Given the description of an element on the screen output the (x, y) to click on. 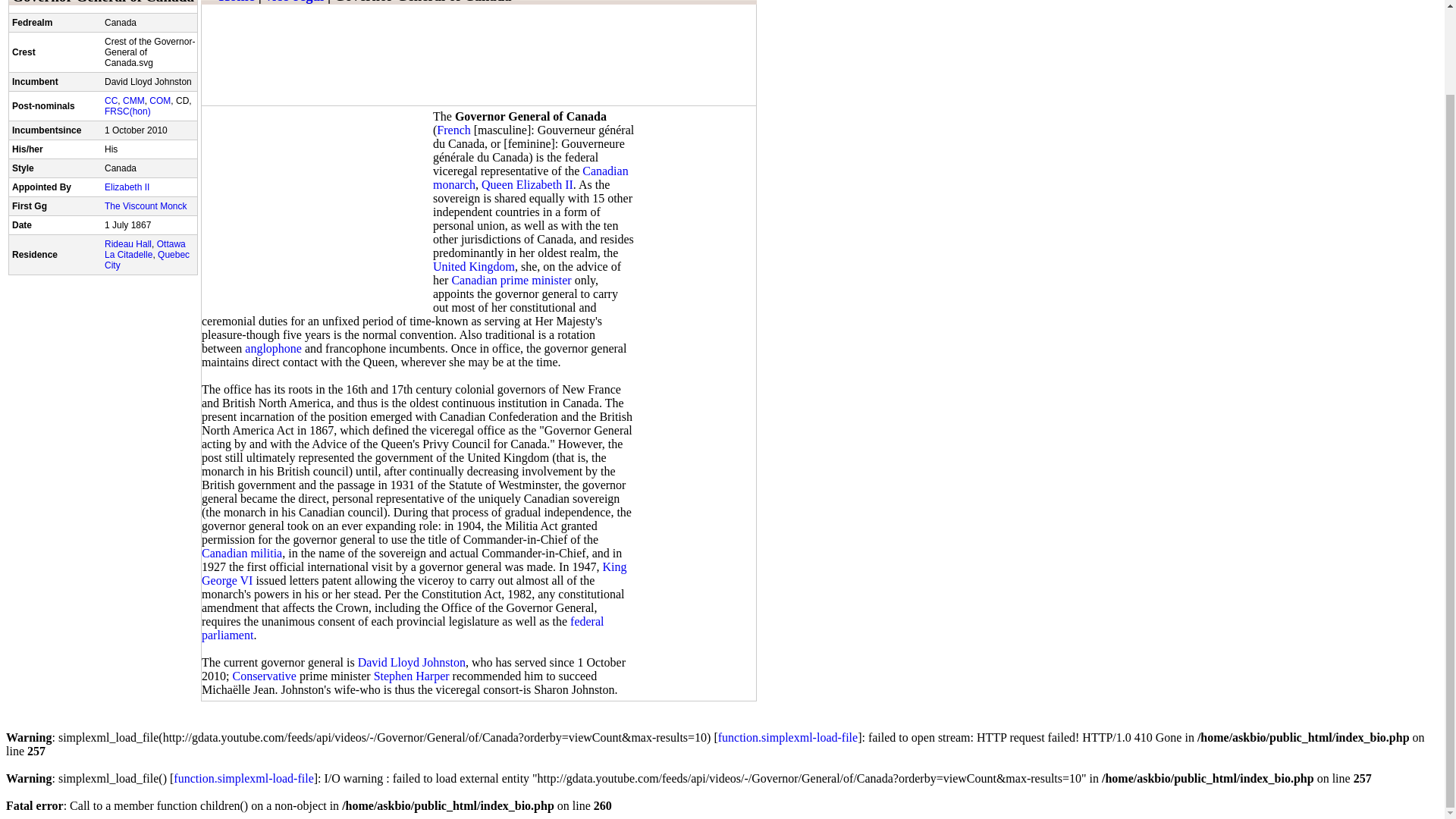
David Lloyd Johnston (411, 662)
vice-regal (294, 2)
Rideau Hall (127, 244)
Advertisement (315, 208)
COM (159, 100)
Canadian militia (242, 553)
Home (236, 2)
Stephen Harper (411, 675)
The Viscount Monck (145, 205)
Elizabeth II (126, 186)
Queen Elizabeth II (527, 184)
CC (110, 100)
Advertisement (478, 13)
function.simplexml-load-file (787, 737)
Conservative (263, 675)
